Given the description of an element on the screen output the (x, y) to click on. 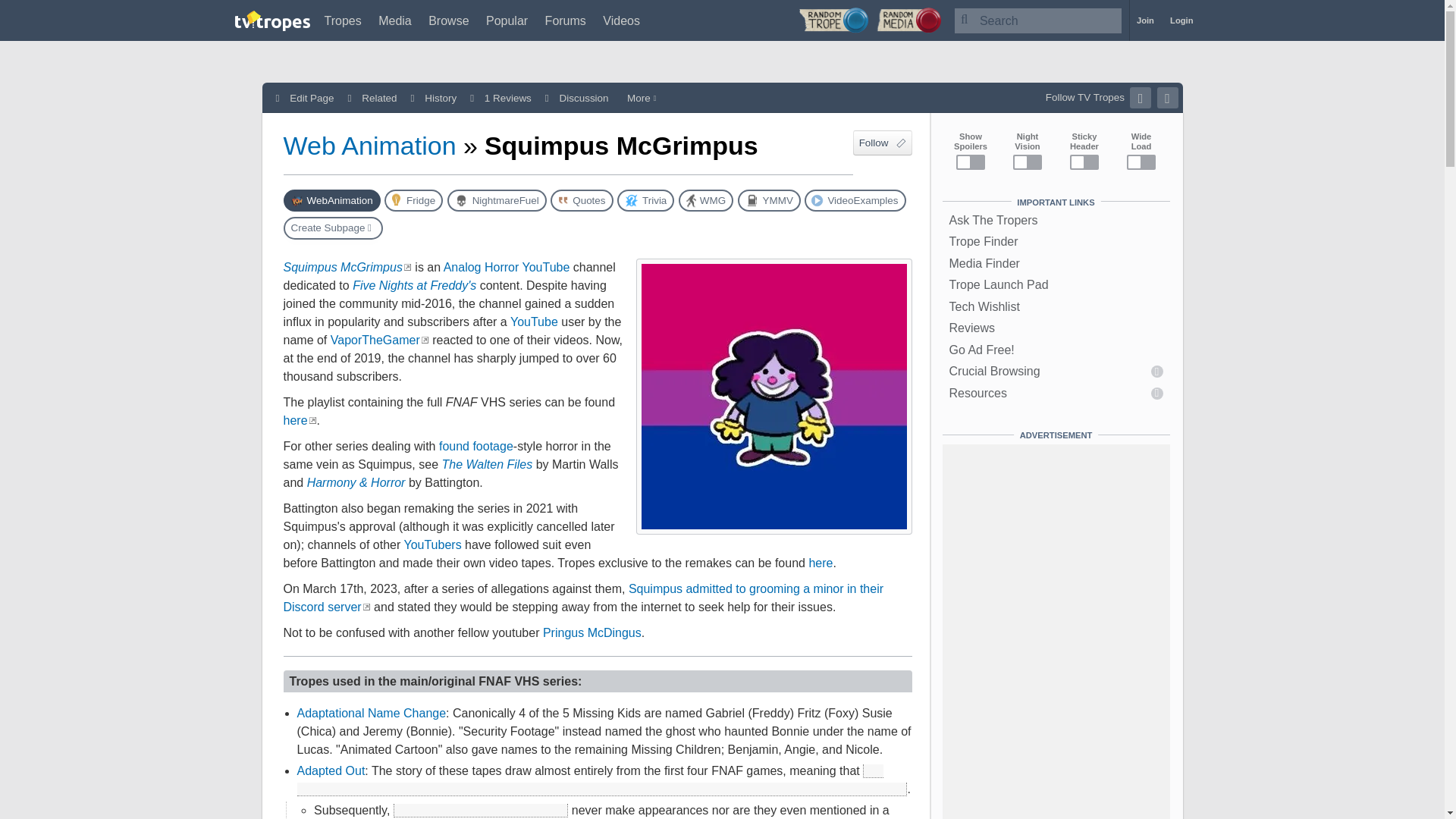
Videos (621, 20)
non-wikiword (371, 267)
The Trivia page (645, 200)
The WMG page (705, 200)
Browse (448, 20)
Video Examples (855, 200)
non-wikiword (375, 339)
Media (395, 20)
The Fridge page (413, 200)
The Web Animation page (331, 200)
